Given the description of an element on the screen output the (x, y) to click on. 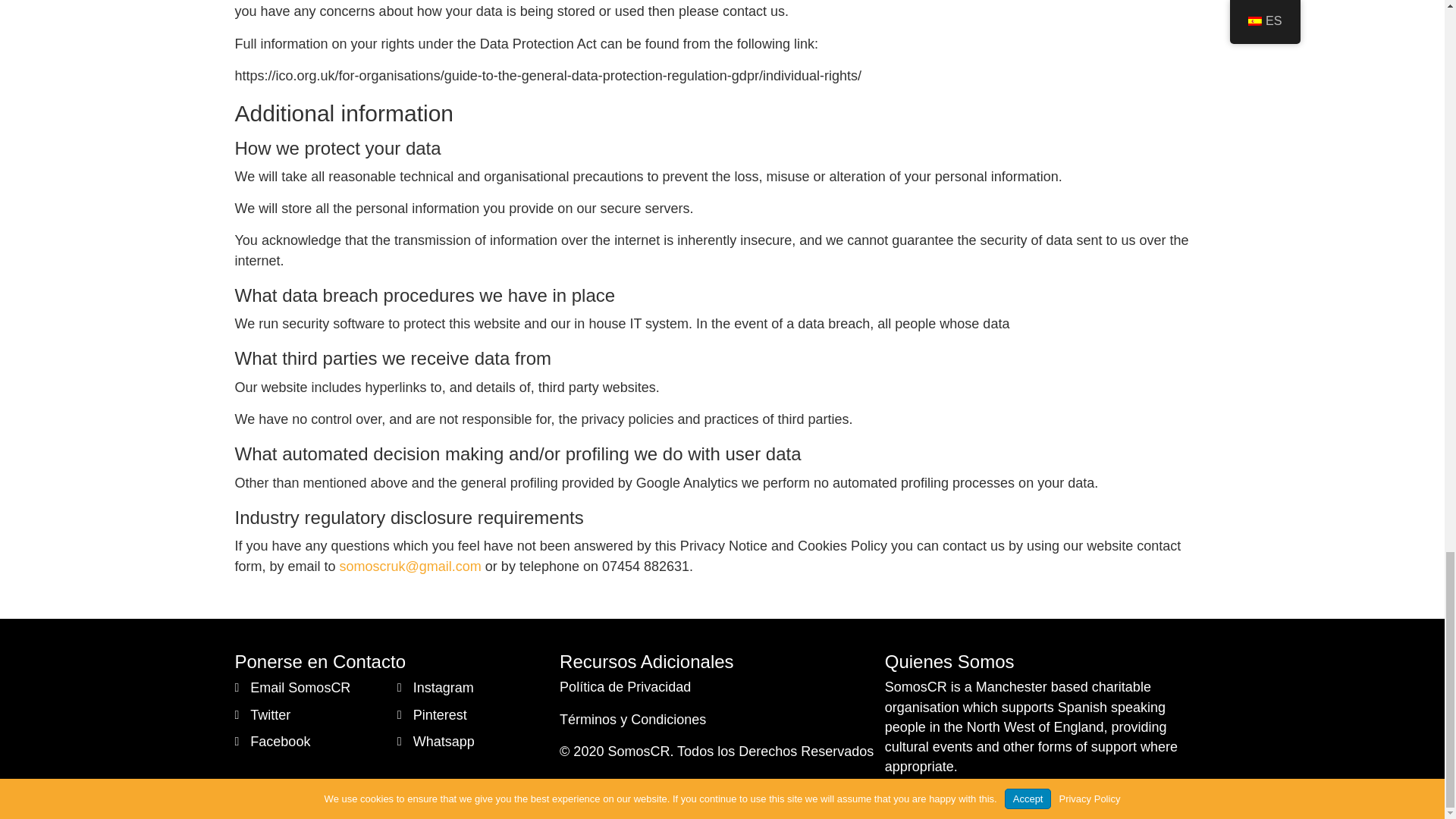
Instagram (443, 687)
Twitter (269, 714)
Facebook (280, 741)
Whatsapp (443, 741)
Pinterest (440, 714)
Email SomosCR (300, 687)
